Given the description of an element on the screen output the (x, y) to click on. 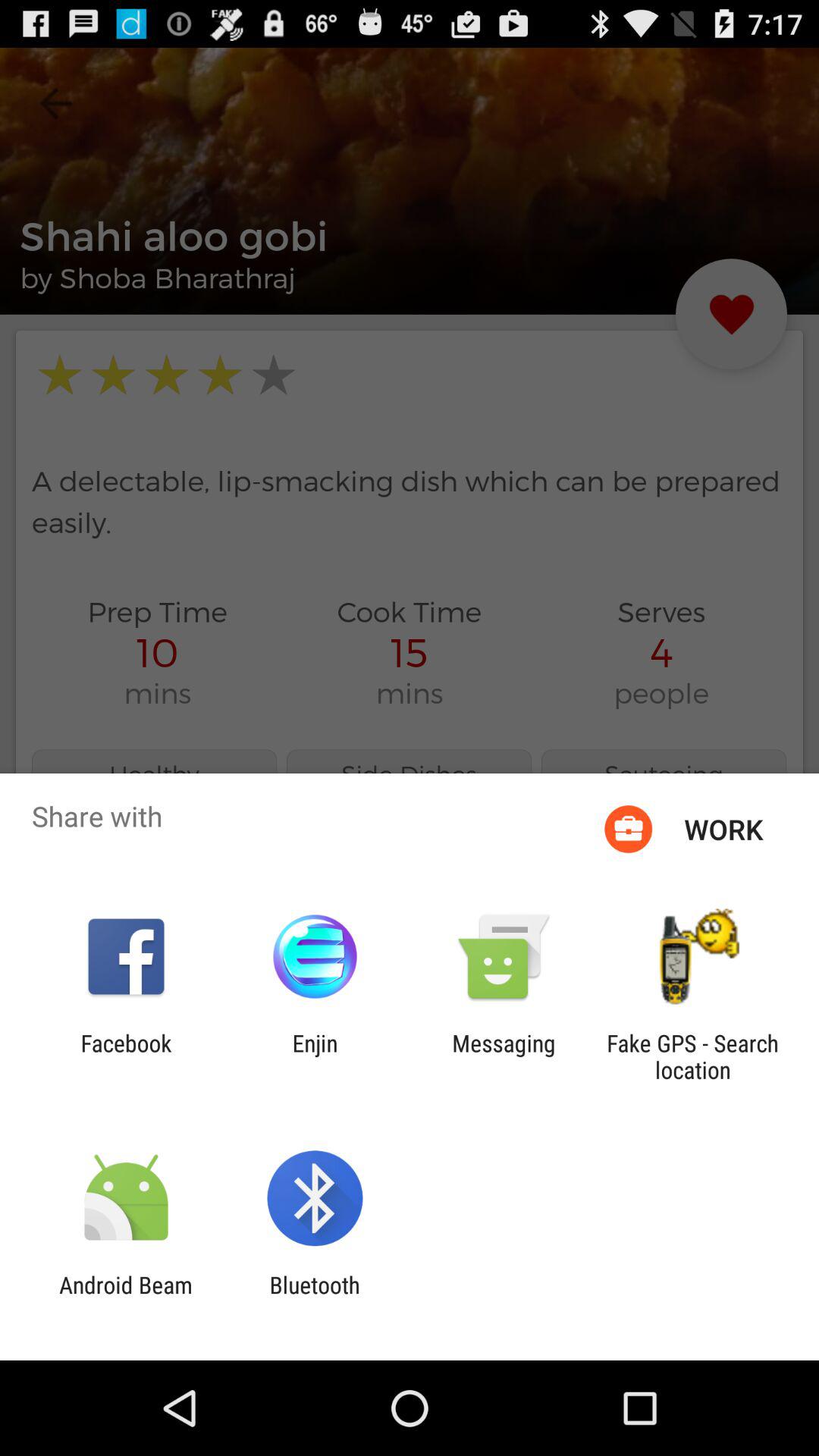
select the icon to the left of messaging item (314, 1056)
